Given the description of an element on the screen output the (x, y) to click on. 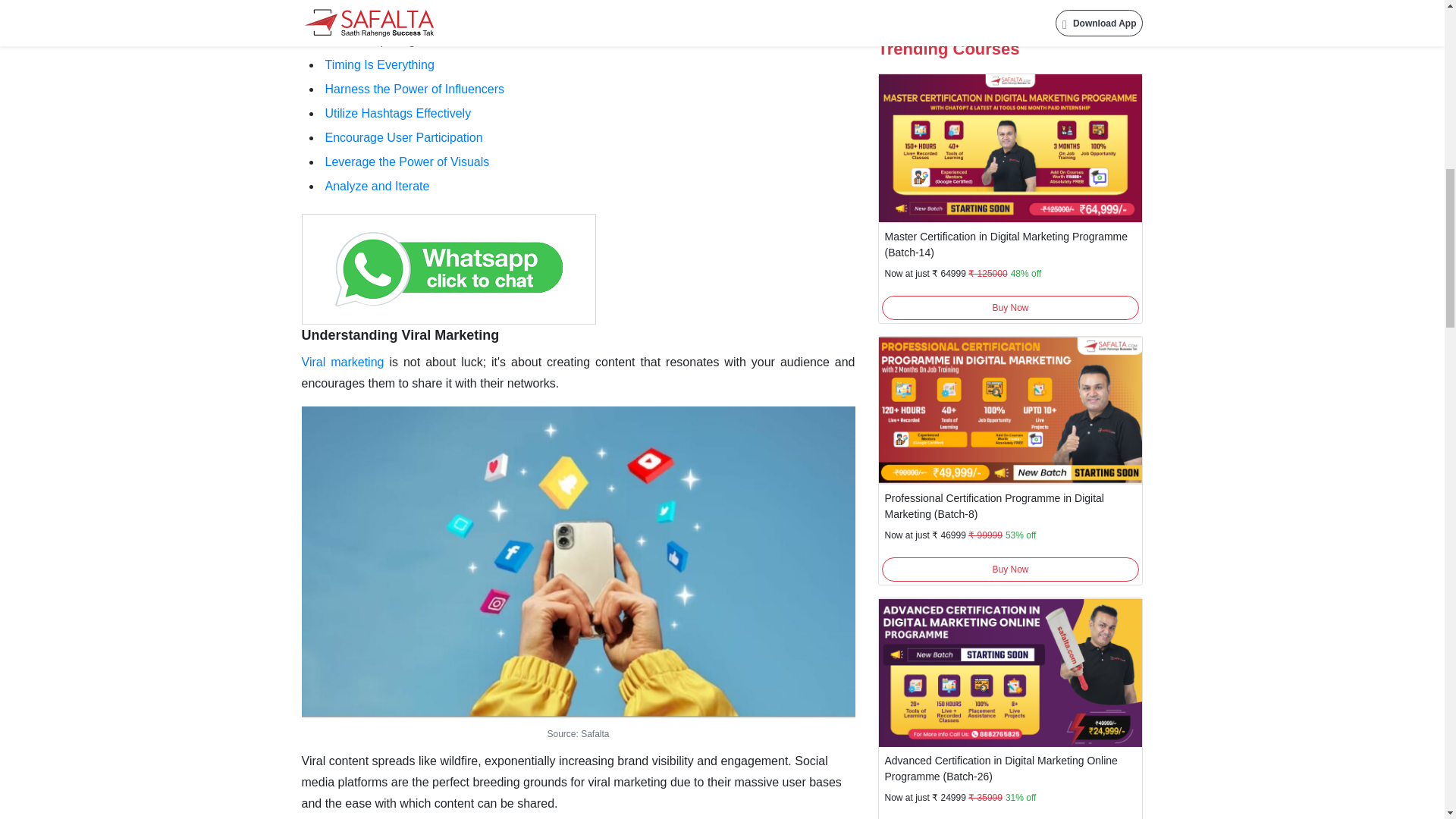
Leverage the Power of Visuals (406, 161)
Encourage User Participation (402, 137)
Know your Audience (379, 15)
Harness the Power of Influencers (413, 88)
Analyze and Iterate (376, 185)
Utilize Hashtags Effectively (397, 113)
Timing Is Everything (378, 64)
Viral marketing (342, 361)
Understanding Viral Marketing (400, 335)
Craft Compelling and Shareable Content (433, 40)
